Given the description of an element on the screen output the (x, y) to click on. 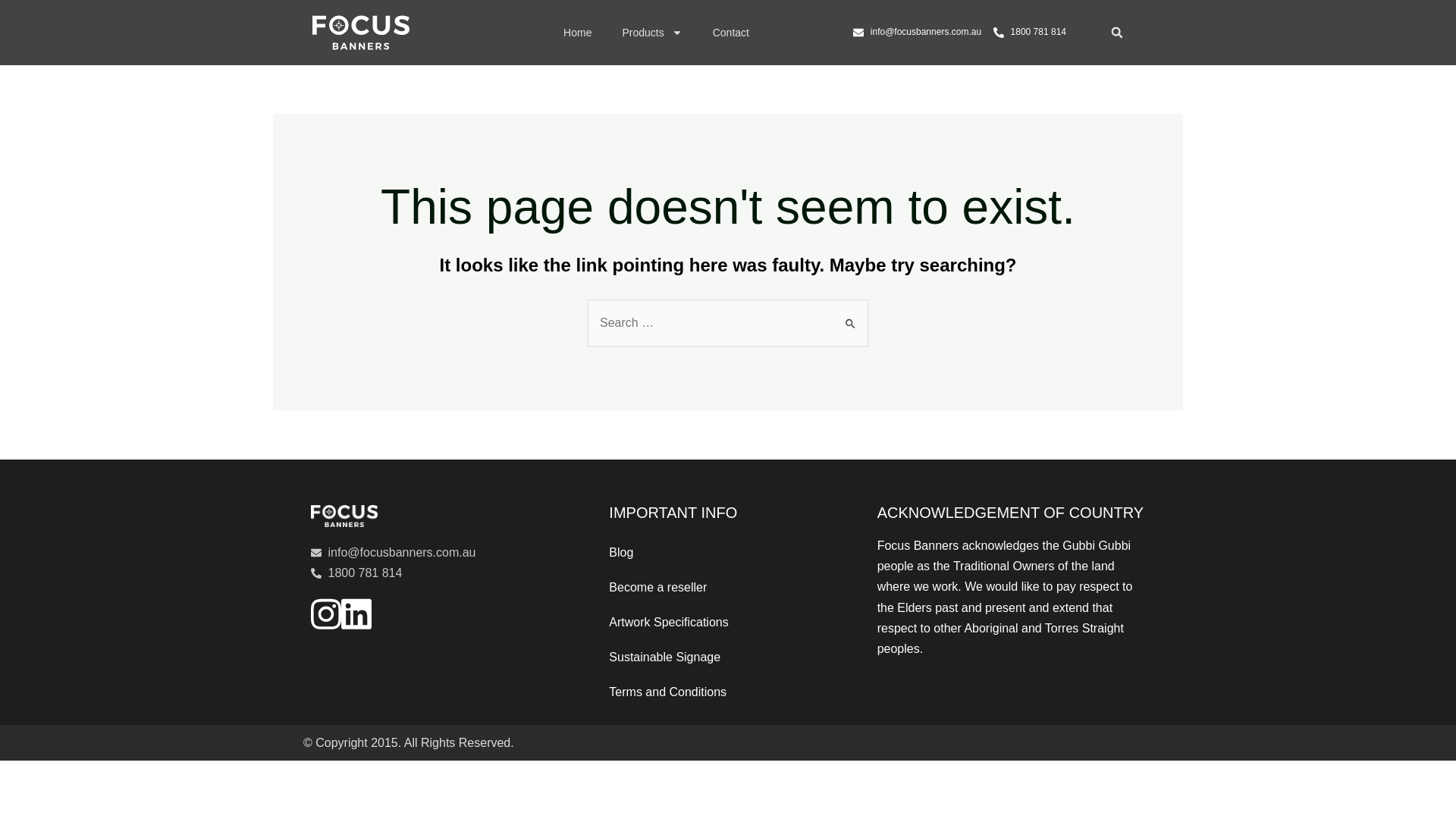
Sustainable Signage Element type: text (727, 657)
Terms and Conditions Element type: text (727, 691)
1800 781 814 Element type: text (1029, 31)
Become a reseller Element type: text (727, 587)
Search Element type: text (851, 314)
1800 781 814 Element type: text (444, 572)
Products Element type: text (651, 32)
info@focusbanners.com.au Element type: text (444, 552)
Blog Element type: text (727, 552)
info@focusbanners.com.au Element type: text (917, 31)
Contact Element type: text (730, 32)
Artwork Specifications Element type: text (727, 622)
Home Element type: text (577, 32)
